Given the description of an element on the screen output the (x, y) to click on. 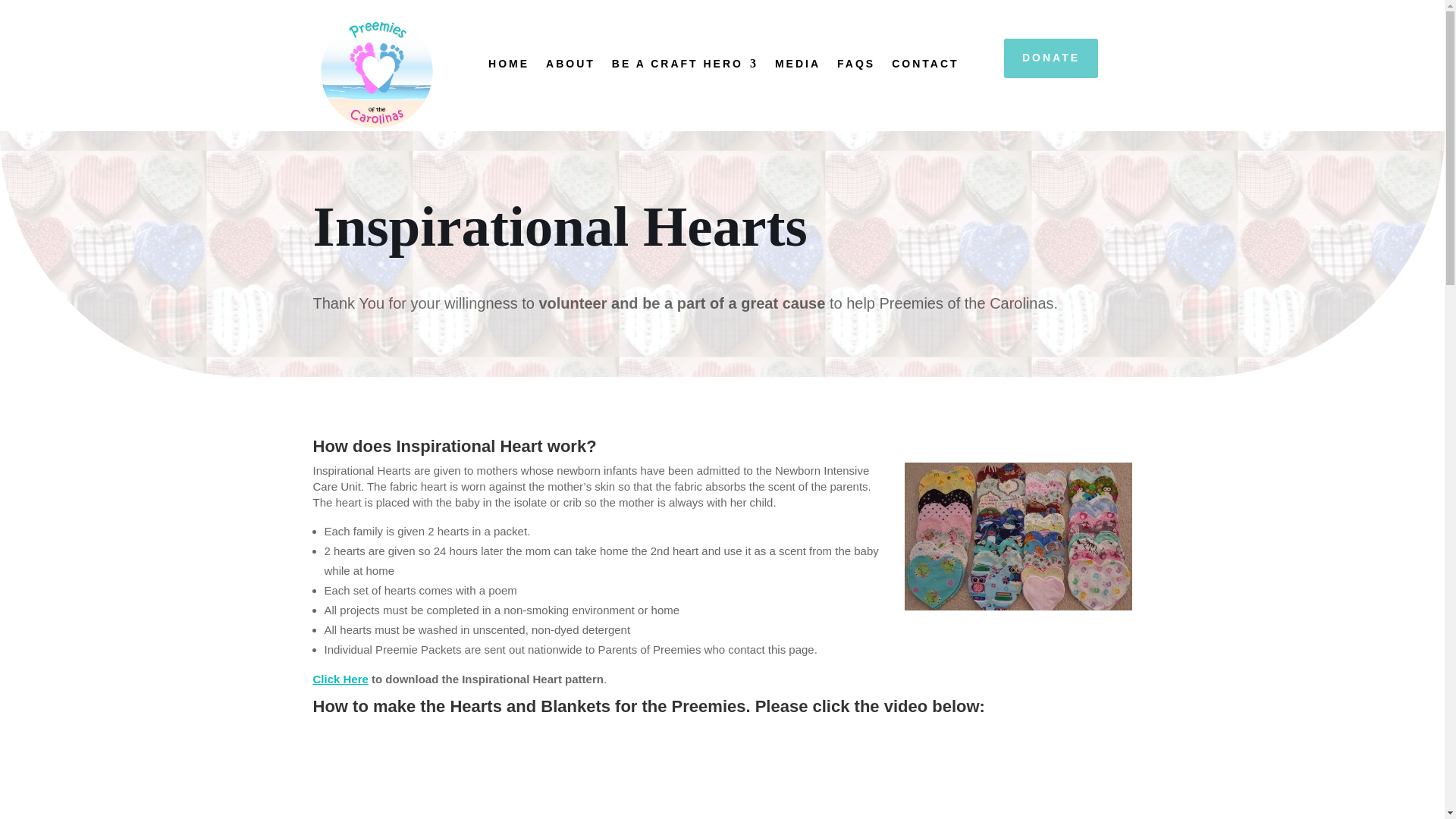
HOME (508, 66)
YouTube video player (721, 776)
ABOUT (570, 66)
Click Here (340, 678)
BE A CRAFT HERO (684, 66)
FAQS (856, 66)
DONATE (1050, 57)
MEDIA (797, 66)
CONTACT (924, 66)
